Given the description of an element on the screen output the (x, y) to click on. 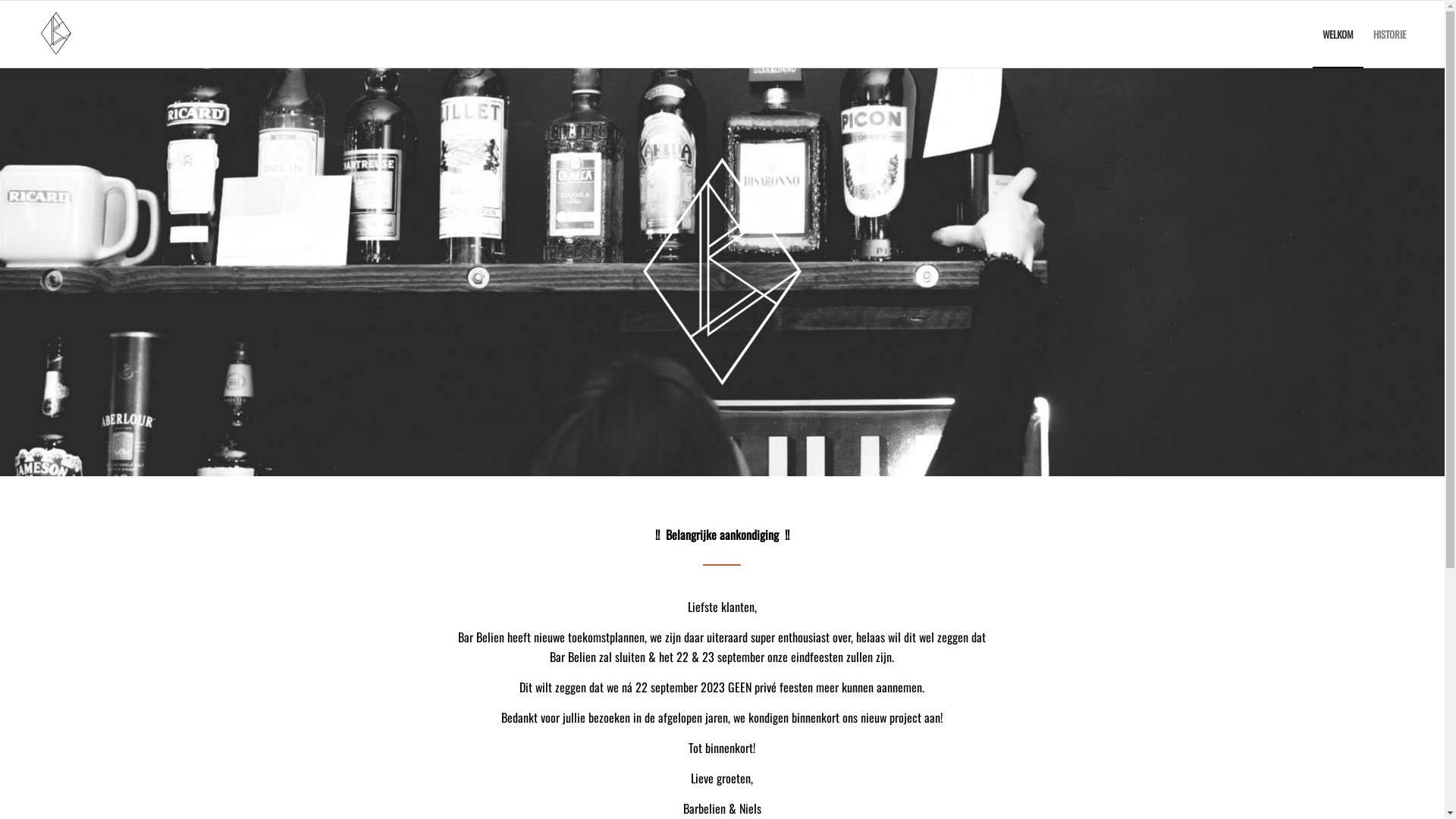
BarBelien_Embleem_wit Element type: hover (722, 271)
HISTORIE Element type: text (1389, 33)
WELKOM Element type: text (1337, 33)
